Given the description of an element on the screen output the (x, y) to click on. 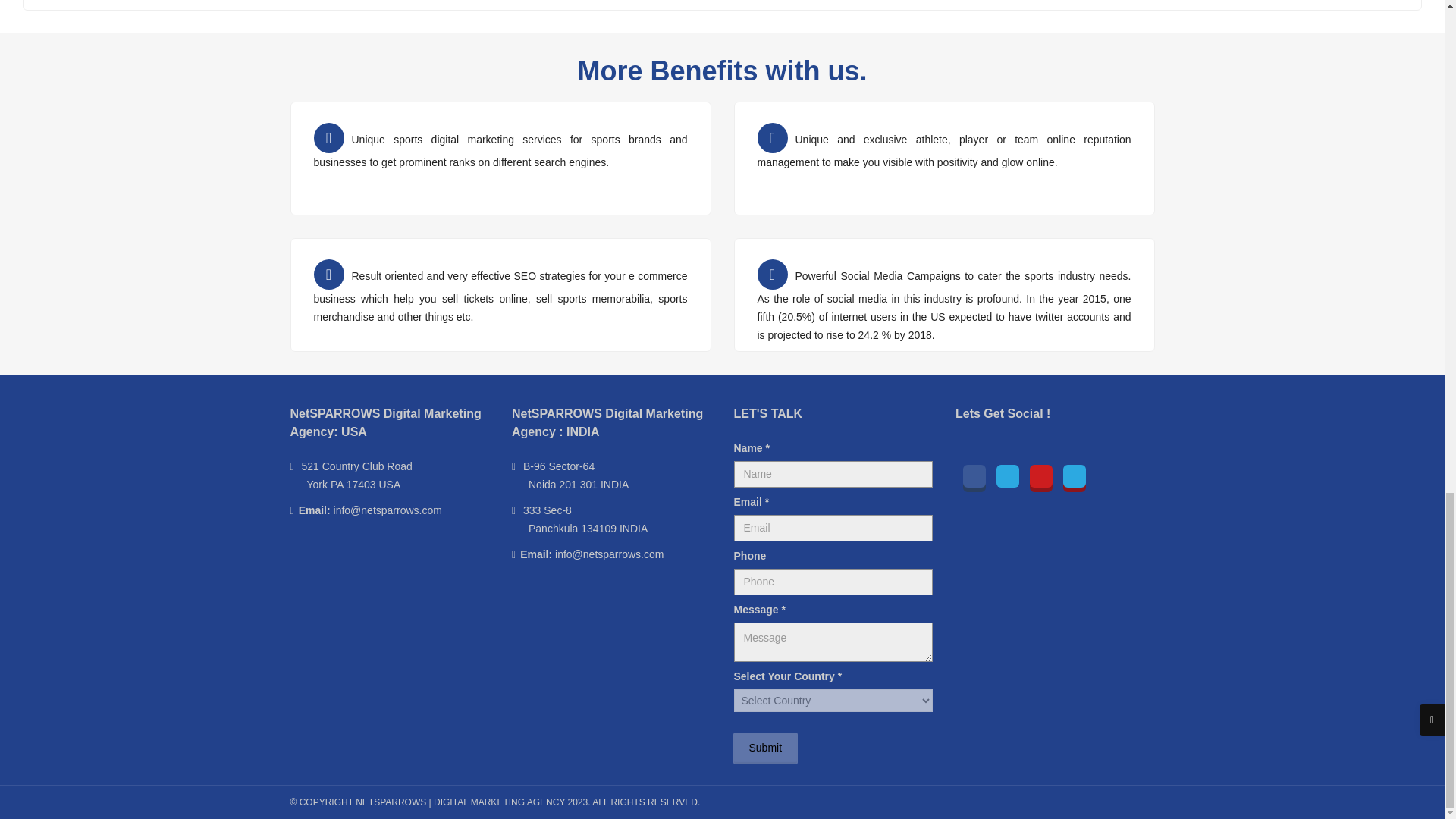
Submit (764, 748)
Instagram (1074, 476)
Submit (764, 748)
Twitter (1007, 476)
Pinterest (1040, 476)
Facebook (973, 476)
